Given the description of an element on the screen output the (x, y) to click on. 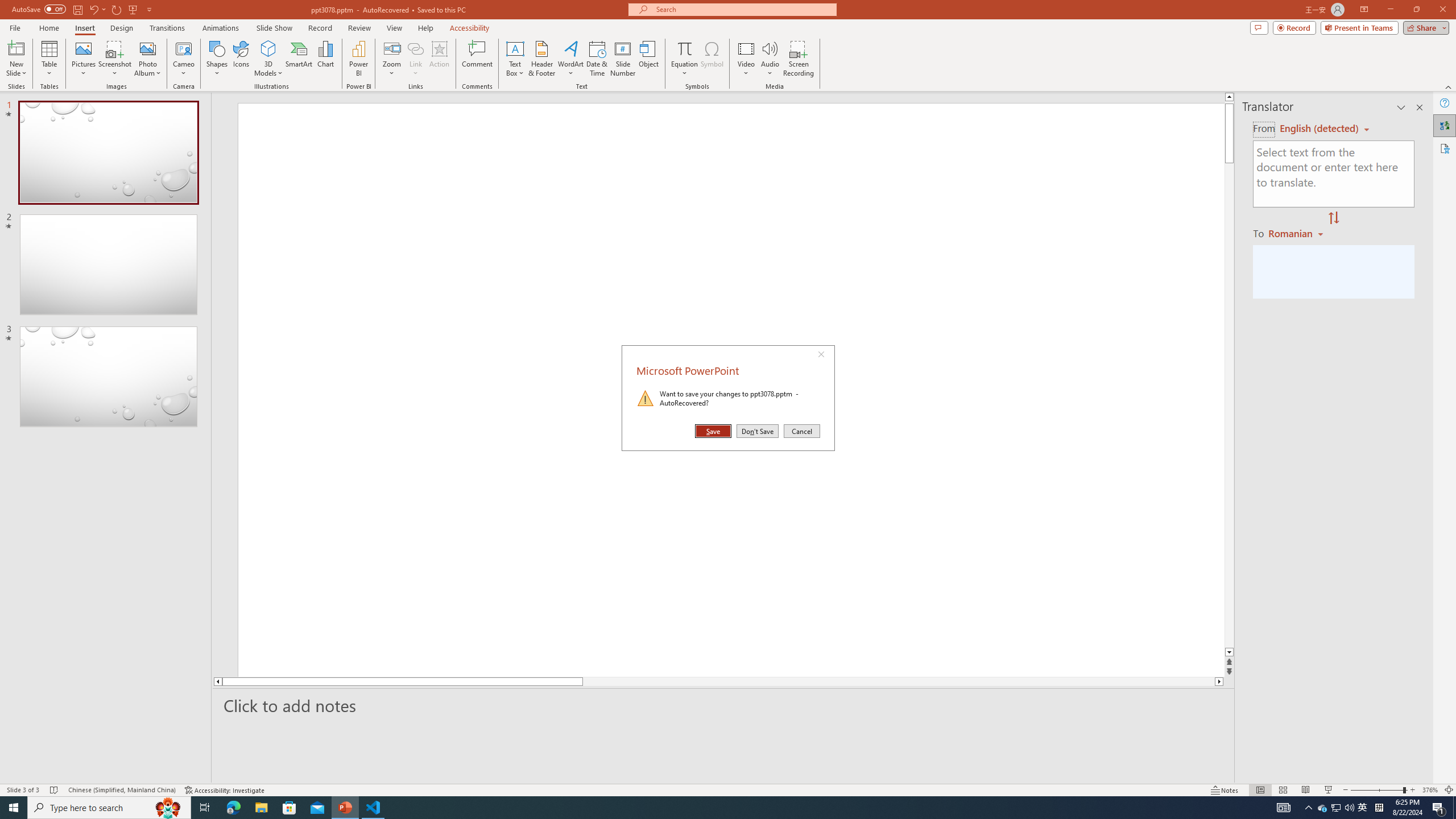
Header & Footer... (541, 58)
Video (745, 58)
3D Models (268, 48)
Slide Notes (724, 705)
Action (439, 58)
Don't Save (757, 431)
